Given the description of an element on the screen output the (x, y) to click on. 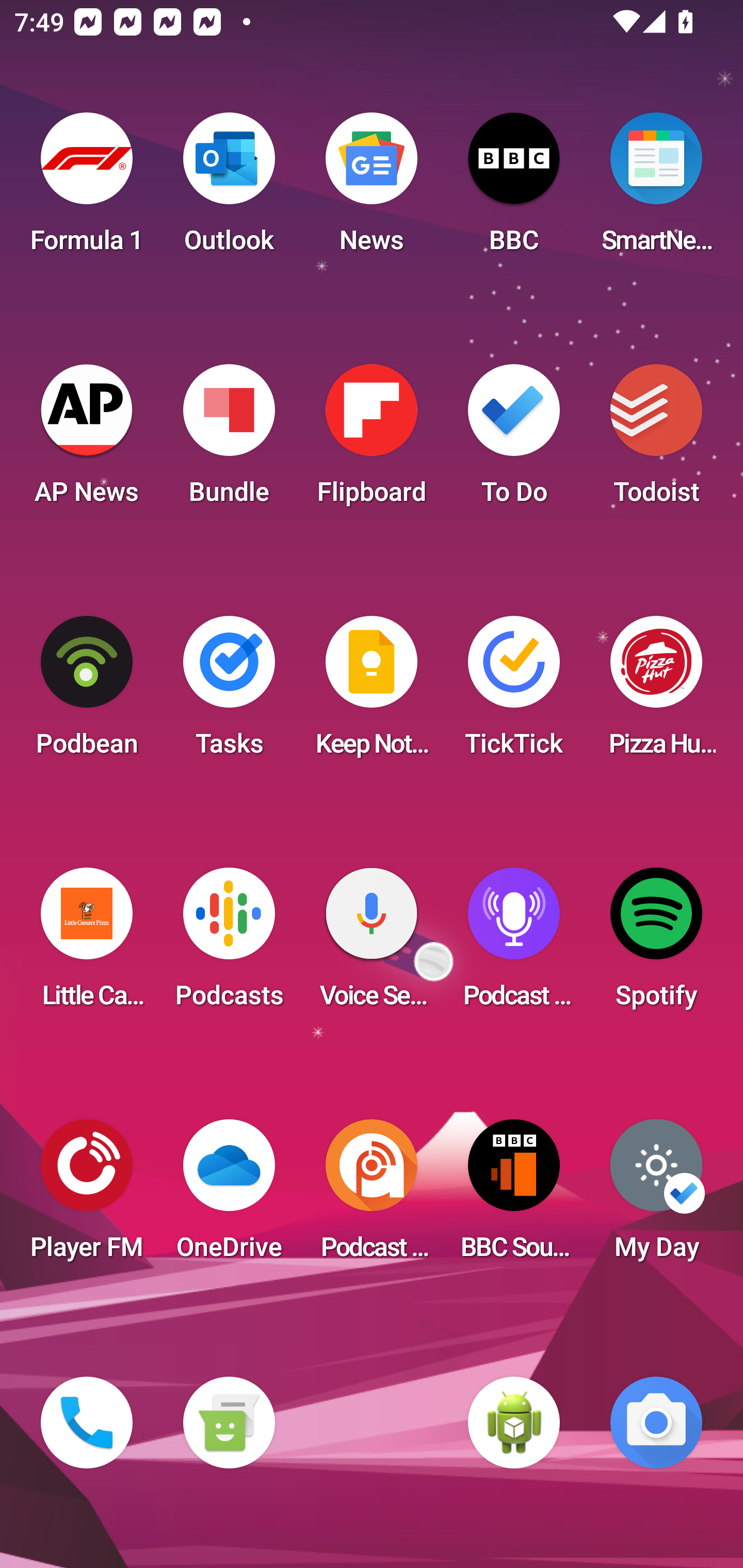
Formula 1 (86, 188)
Outlook (228, 188)
News (371, 188)
BBC (513, 188)
SmartNews (656, 188)
AP News (86, 440)
Bundle (228, 440)
Flipboard (371, 440)
To Do (513, 440)
Todoist (656, 440)
Podbean (86, 692)
Tasks (228, 692)
Keep Notes (371, 692)
TickTick (513, 692)
Pizza Hut HK & Macau (656, 692)
Little Caesars Pizza (86, 943)
Podcasts (228, 943)
Voice Search (371, 943)
Podcast Player (513, 943)
Spotify (656, 943)
Player FM (86, 1195)
OneDrive (228, 1195)
Podcast Addict (371, 1195)
BBC Sounds (513, 1195)
My Day (656, 1195)
Phone (86, 1422)
Messaging (228, 1422)
WebView Browser Tester (513, 1422)
Camera (656, 1422)
